Given the description of an element on the screen output the (x, y) to click on. 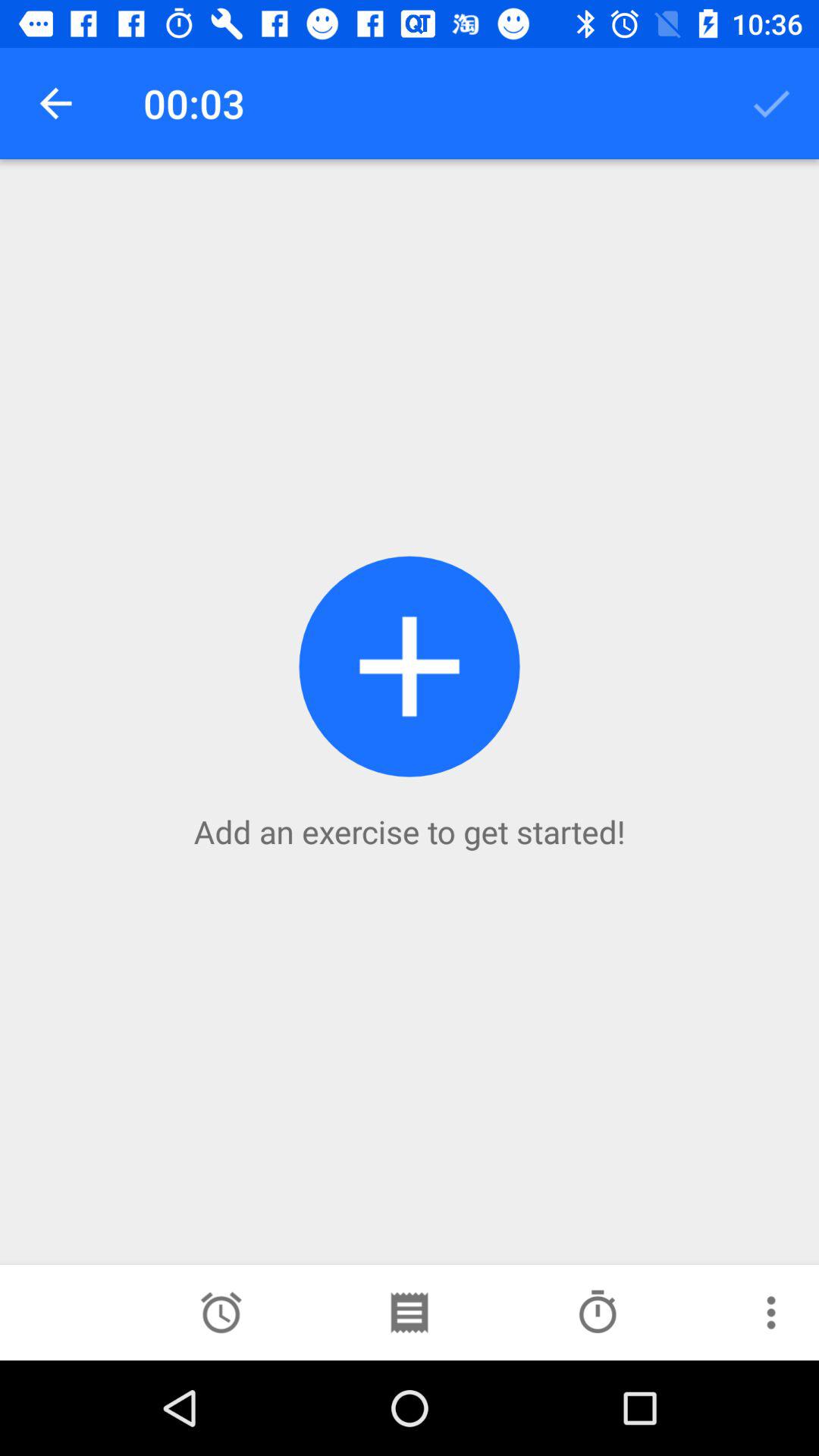
open timer (221, 1312)
